Given the description of an element on the screen output the (x, y) to click on. 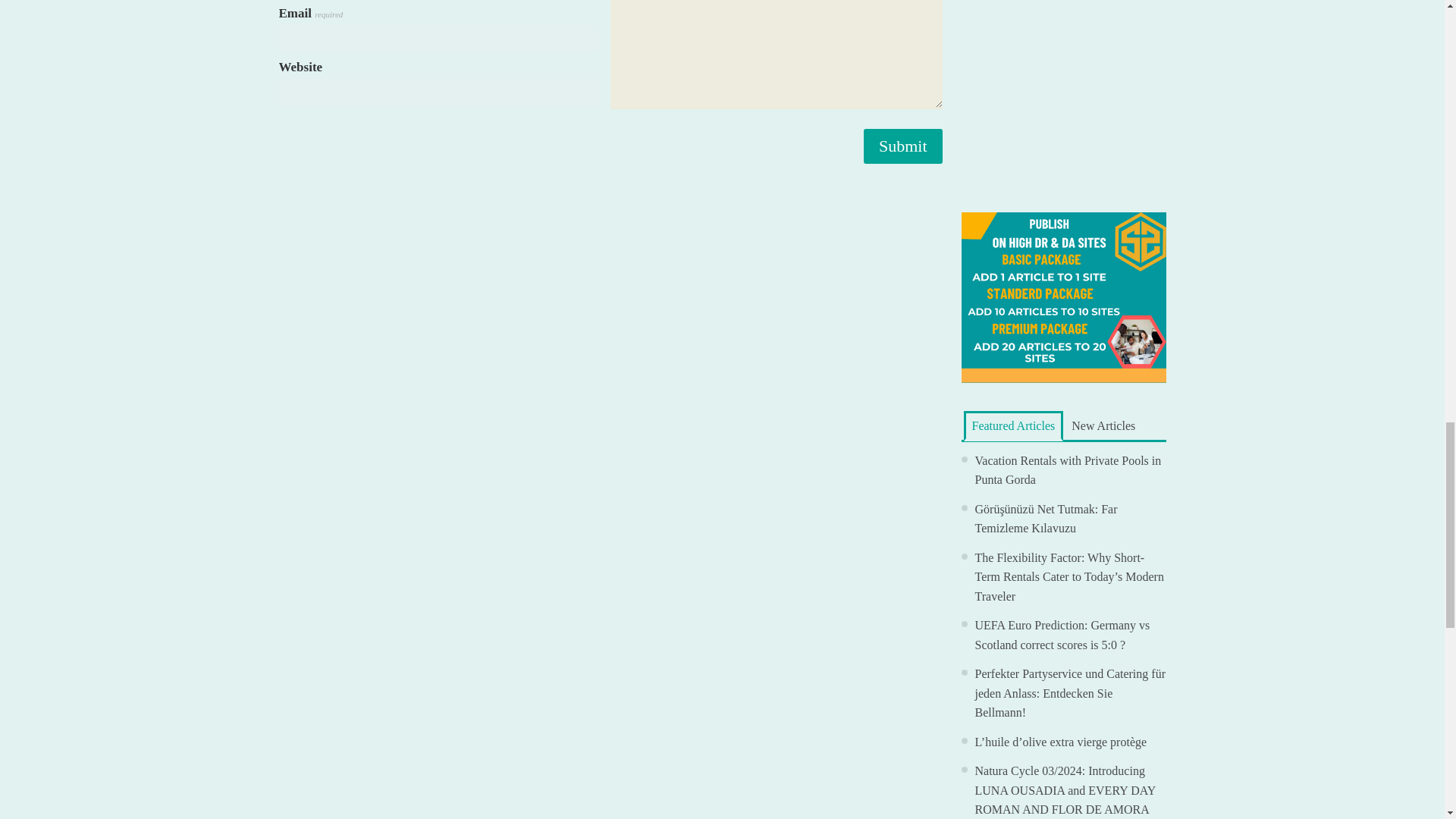
Vacation Rentals with Private Pools in Punta Gorda (1068, 469)
Featured Articles (1012, 426)
Submit (902, 145)
New Articles (1103, 425)
Submit (902, 145)
New Articles (1103, 425)
Featured Articles (1012, 426)
